Given the description of an element on the screen output the (x, y) to click on. 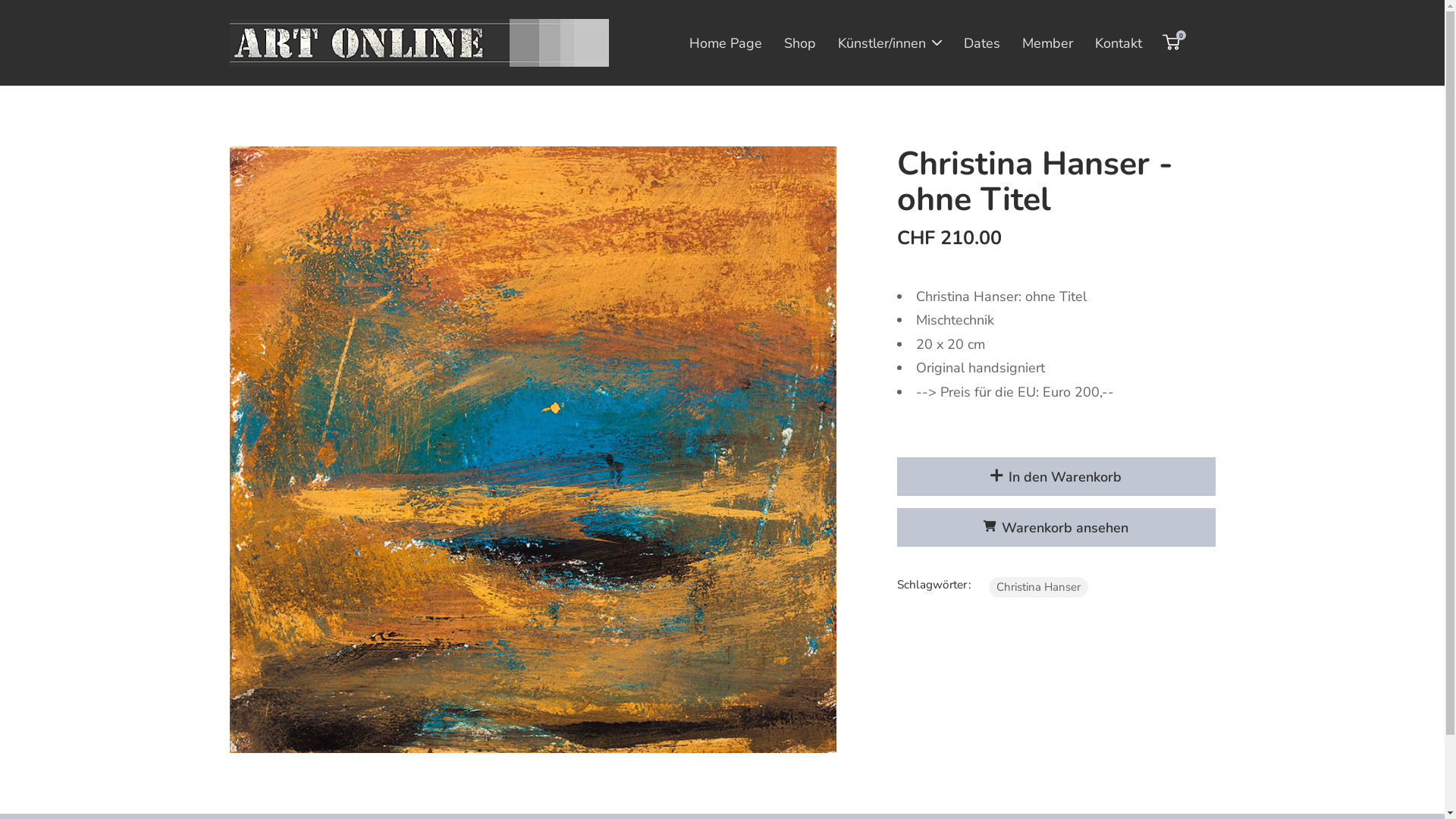
Member Element type: text (1047, 43)
Warenkorb:
0 Element type: text (1170, 42)
Christina Hanser Element type: text (1038, 587)
Kontakt Element type: text (1118, 43)
Warenkorb ansehen Element type: text (1055, 527)
In den Warenkorb Element type: text (1055, 476)
Christina Hanser - ohne Titel Element type: hover (544, 449)
Shop Element type: text (800, 43)
Dates Element type: text (981, 43)
Home Page Element type: text (725, 43)
